Given the description of an element on the screen output the (x, y) to click on. 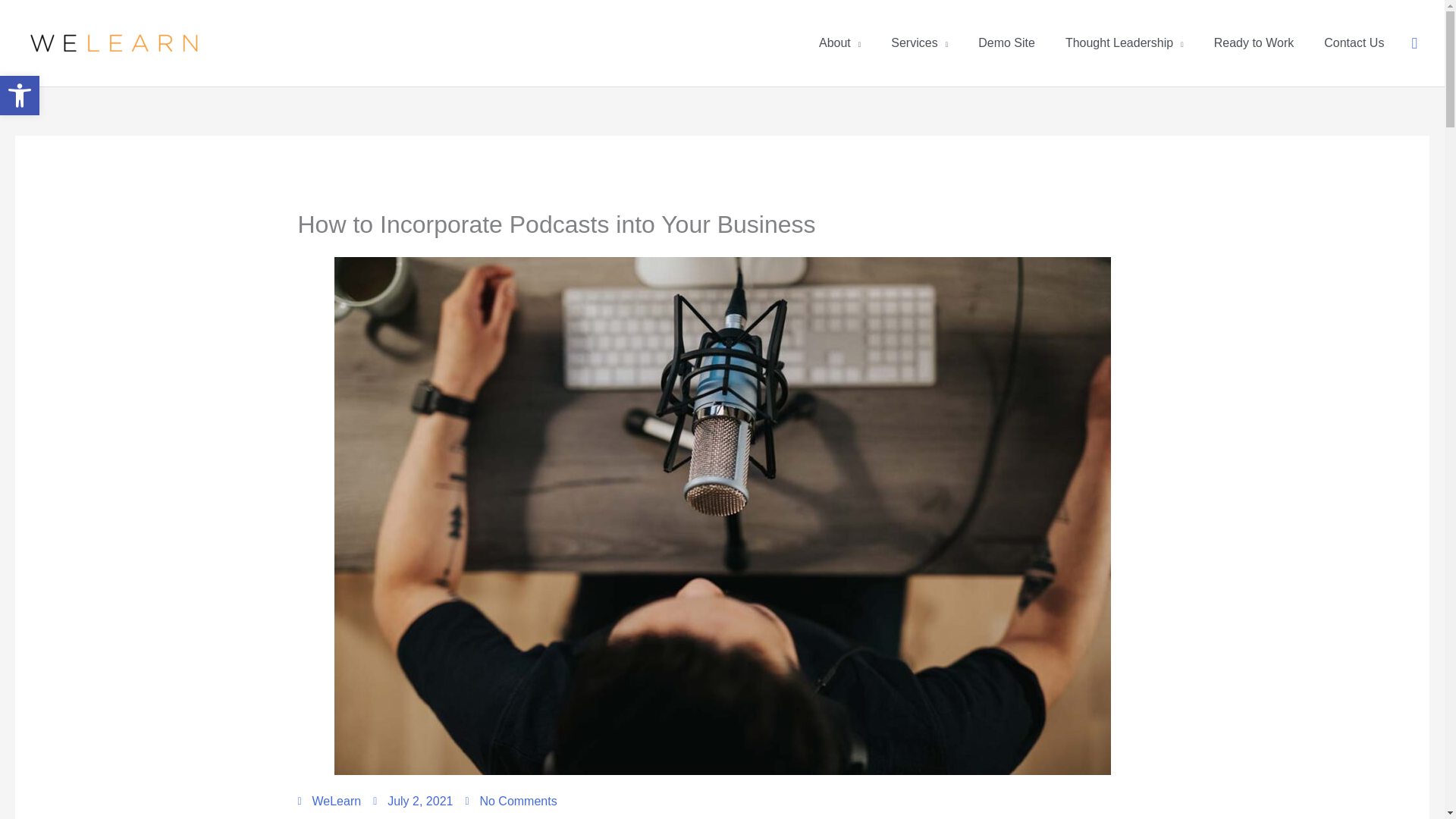
Demo Site (1005, 43)
Contact Us (1353, 43)
Ready to Work (1253, 43)
Accessibility Tools (19, 95)
Accessibility Tools (19, 95)
Services (919, 43)
Thought Leadership (1123, 43)
